Given the description of an element on the screen output the (x, y) to click on. 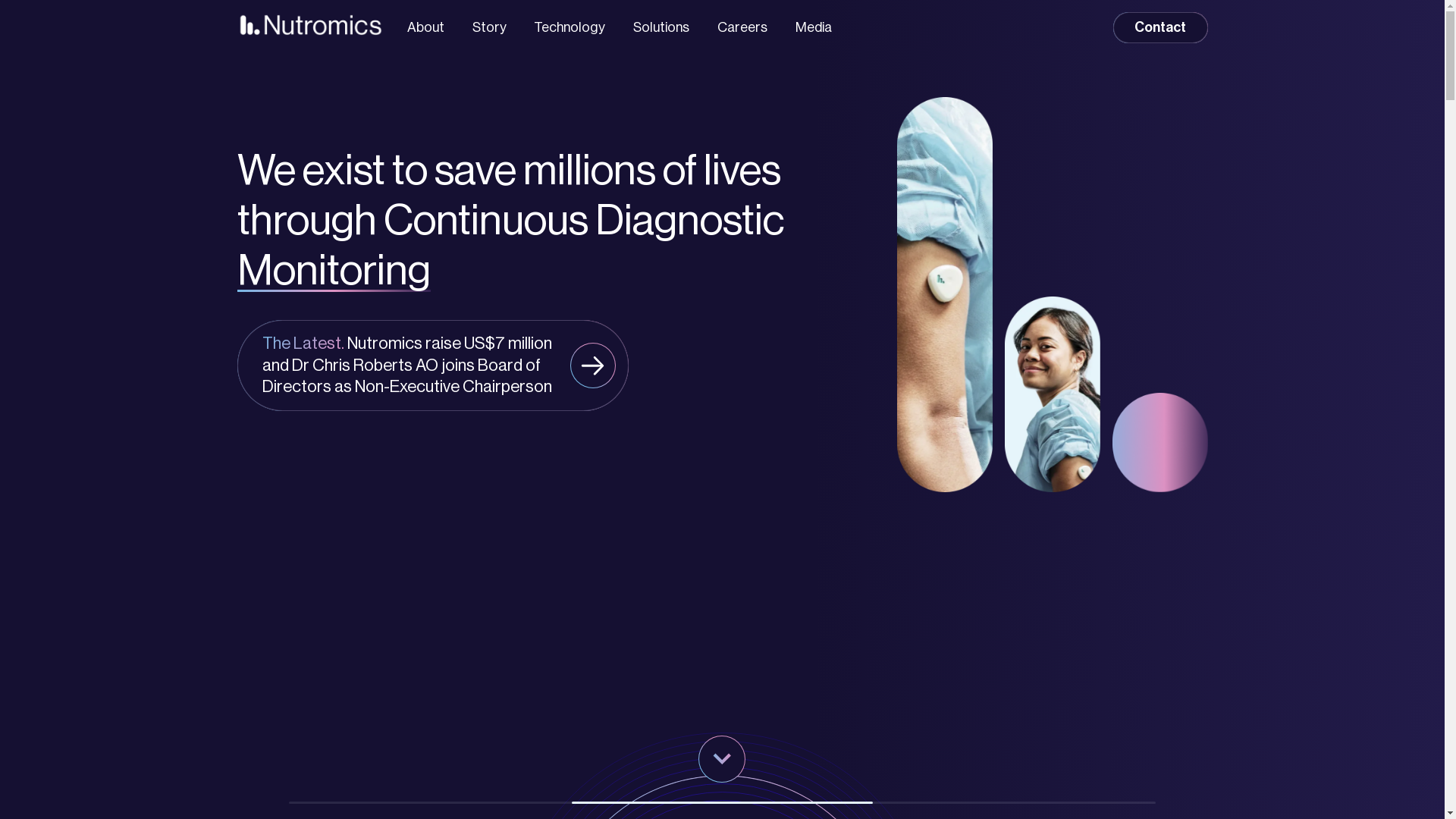
Careers Element type: text (742, 27)
Contact Element type: text (1159, 27)
Technology Element type: text (569, 27)
Solutions Element type: text (661, 27)
Story Element type: text (488, 27)
About Element type: text (425, 27)
Media Element type: text (813, 27)
